Given the description of an element on the screen output the (x, y) to click on. 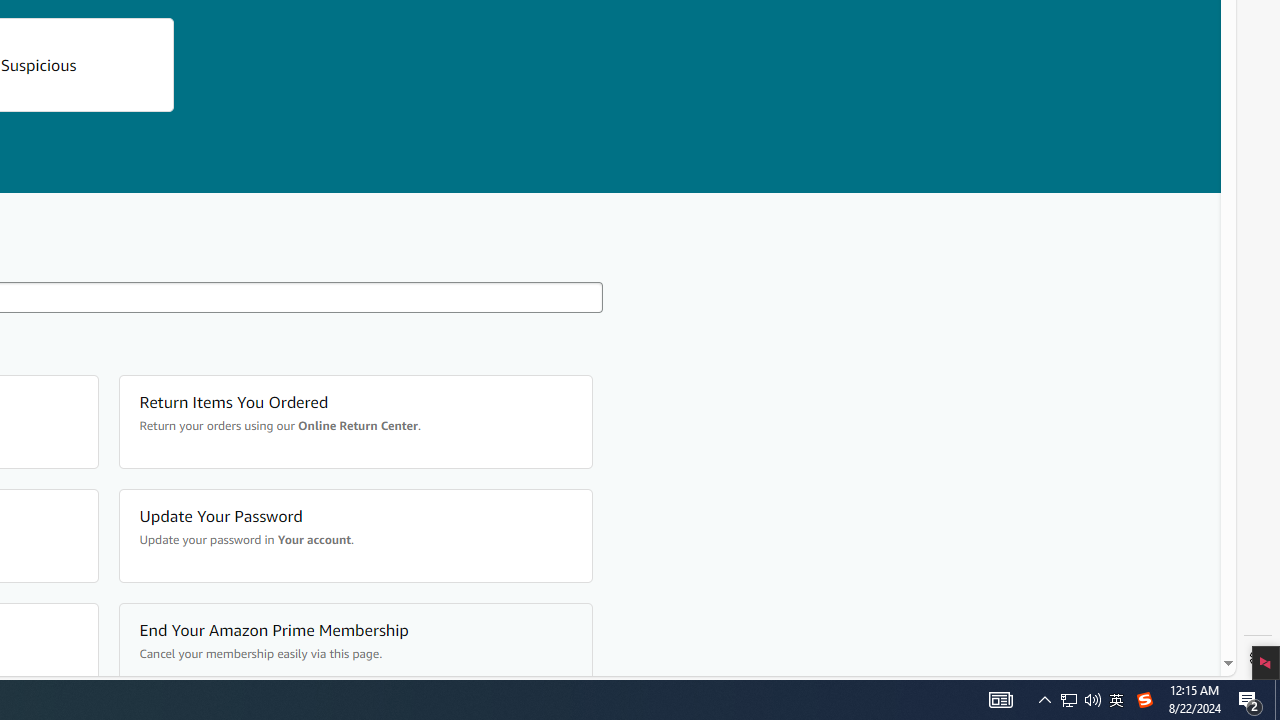
Update Your Password Update your password in Your account. (354, 535)
